Given the description of an element on the screen output the (x, y) to click on. 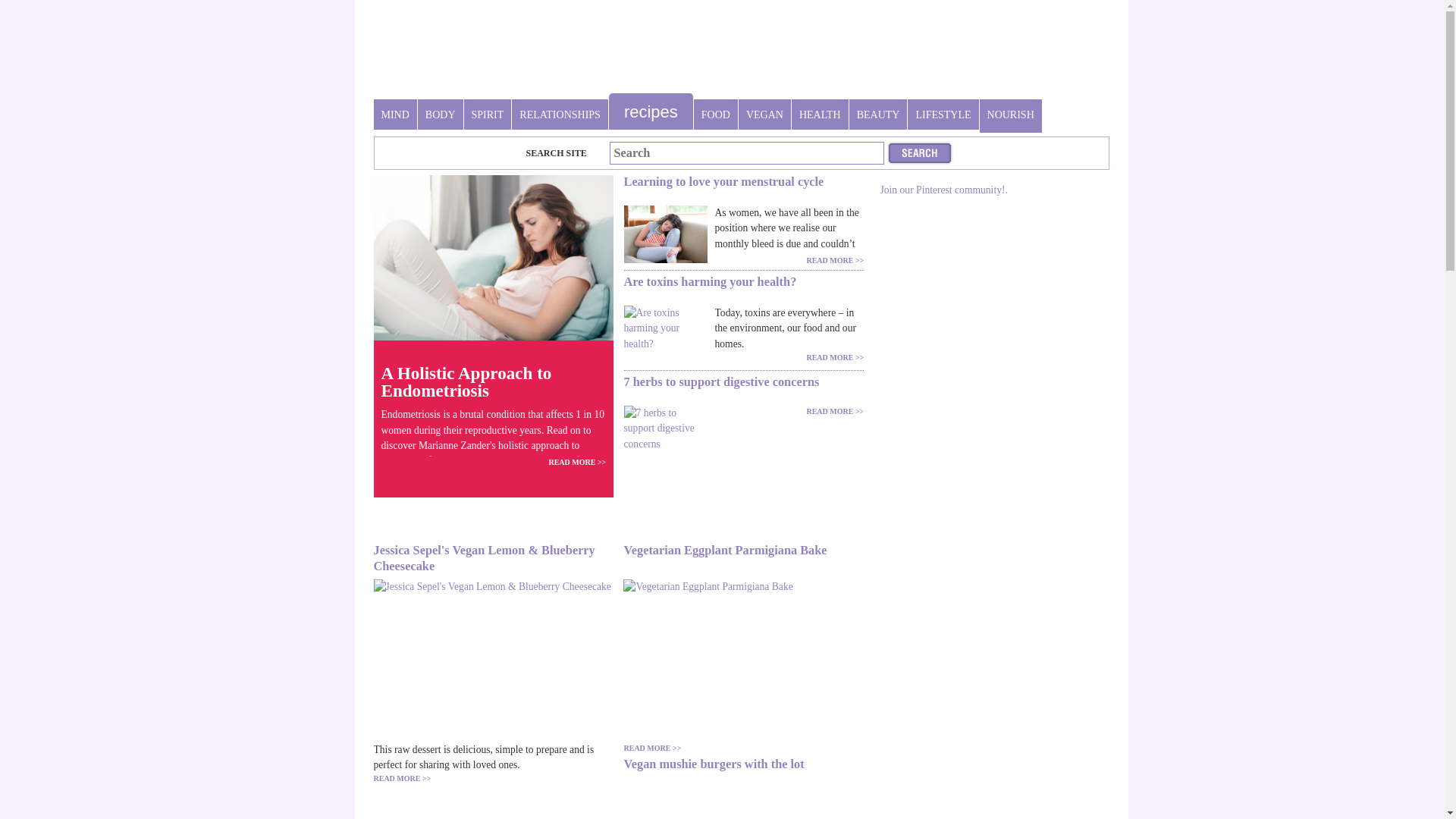
recipes Element type: text (650, 111)
READ MORE >> Element type: text (401, 778)
MIND Element type: text (394, 114)
Australian Natural Health Magazine Element type: text (492, 55)
NOURISH Element type: text (1010, 114)
RELATIONSHIPS Element type: text (559, 114)
LIFESTYLE Element type: text (942, 114)
SPIRIT Element type: text (487, 114)
READ MORE >> Element type: text (576, 462)
VEGAN Element type: text (764, 114)
BEAUTY Element type: text (878, 114)
Vegan mushie burgers with the lot Element type: text (743, 772)
READ MORE >> Element type: text (834, 357)
Learning to love your menstrual cycle Element type: text (743, 190)
READ MORE >> Element type: text (834, 411)
Join our Pinterest community!. Element type: text (943, 189)
7 herbs to support digestive concerns Element type: text (743, 390)
A Holistic Approach to Endometriosis Element type: text (492, 381)
HEALTH Element type: text (819, 114)
Are toxins harming your health? Element type: text (743, 290)
Jessica Sepel's Vegan Lemon & Blueberry Cheesecake Element type: text (493, 558)
FOOD Element type: text (715, 114)
READ MORE >> Element type: text (651, 747)
READ MORE >> Element type: text (834, 260)
Vegetarian Eggplant Parmigiana Bake Element type: text (743, 558)
BODY Element type: text (440, 114)
